Given the description of an element on the screen output the (x, y) to click on. 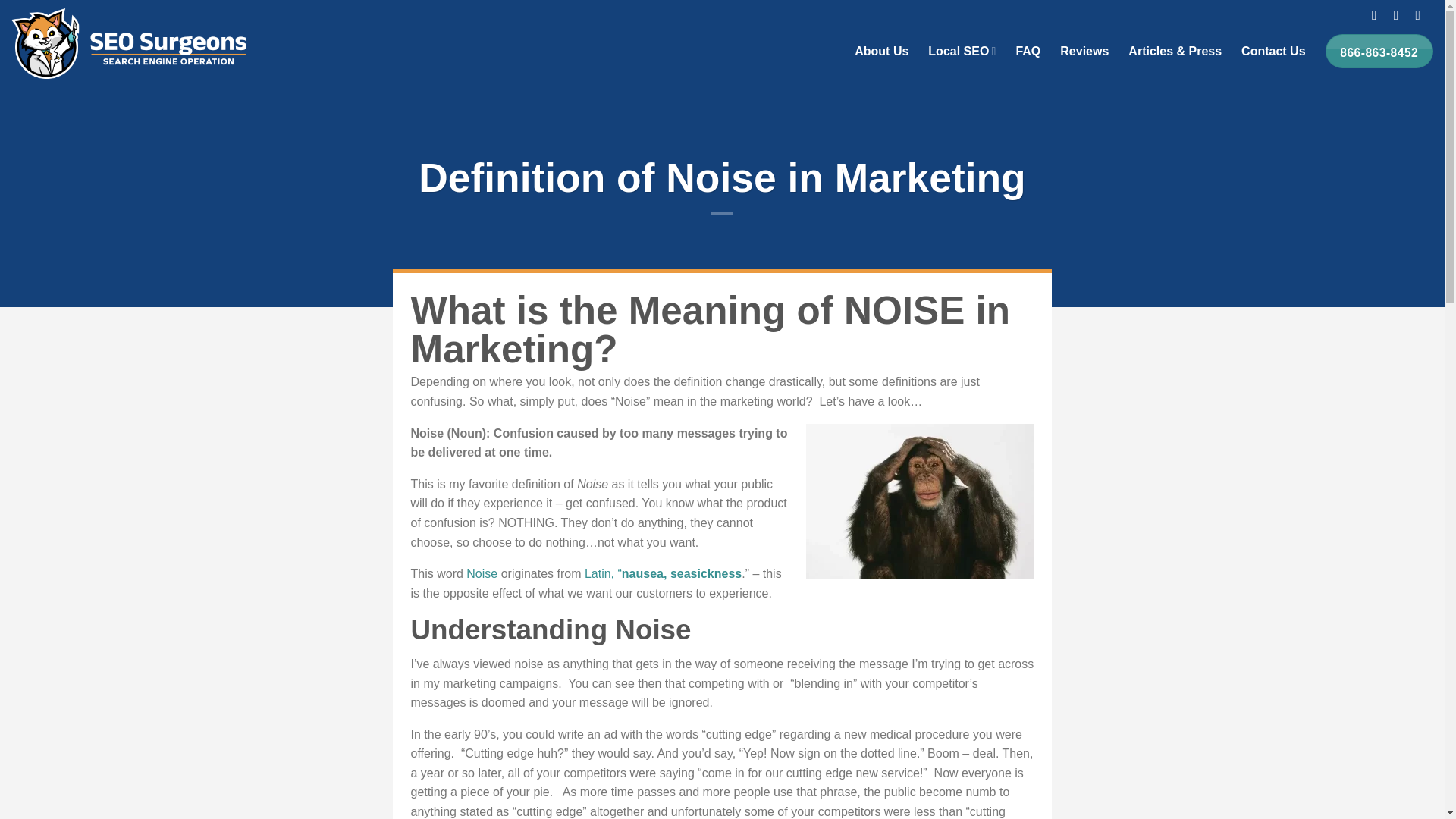
Follow on Instagram (1400, 14)
Noise (481, 573)
Local SEO (961, 51)
FAQ (1027, 50)
Contact Us (1272, 50)
Follow on YouTube (1422, 14)
Follow on Facebook (1378, 14)
866-863-8452 (1378, 50)
SEO Surgeons - SEO Surgeons (128, 42)
Reviews (1083, 50)
About Us (881, 50)
